Given the description of an element on the screen output the (x, y) to click on. 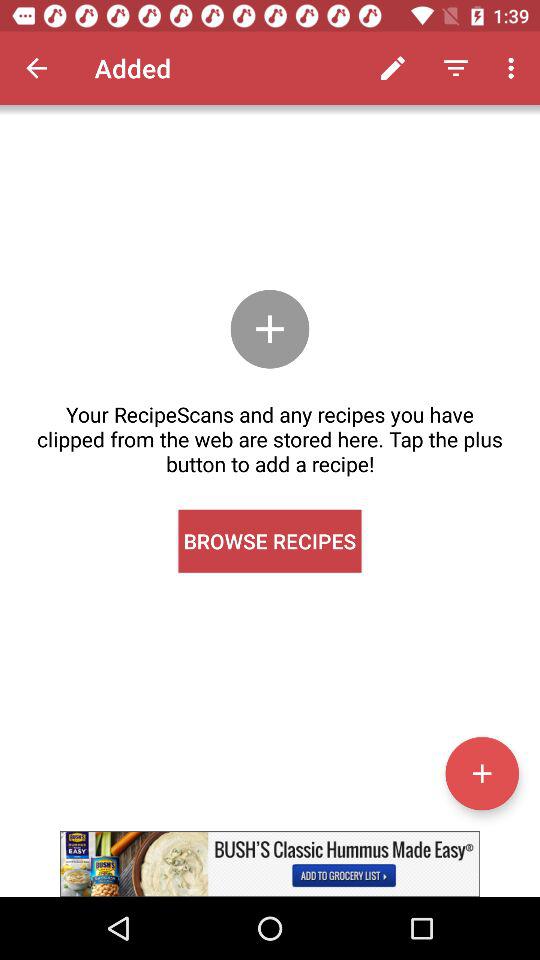
go back (36, 68)
